Given the description of an element on the screen output the (x, y) to click on. 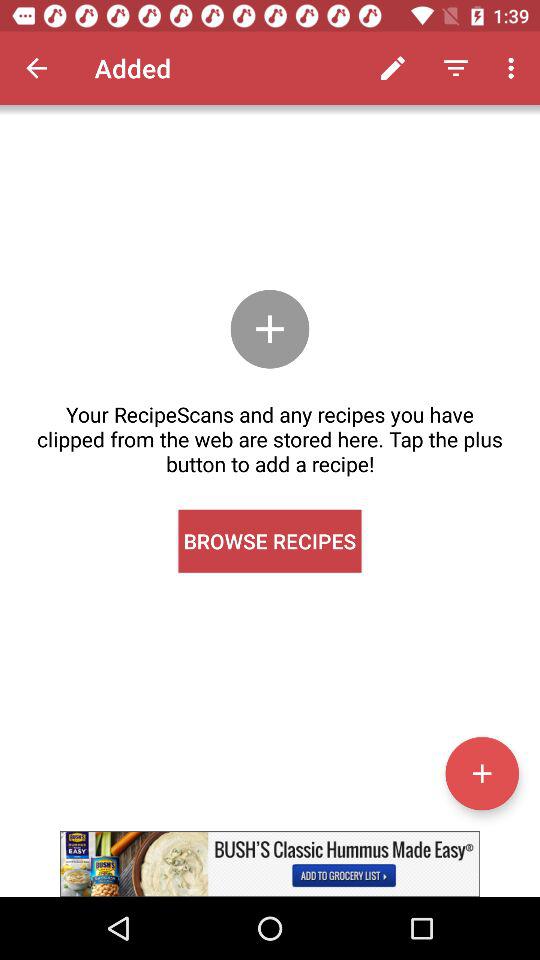
go back (36, 68)
